Given the description of an element on the screen output the (x, y) to click on. 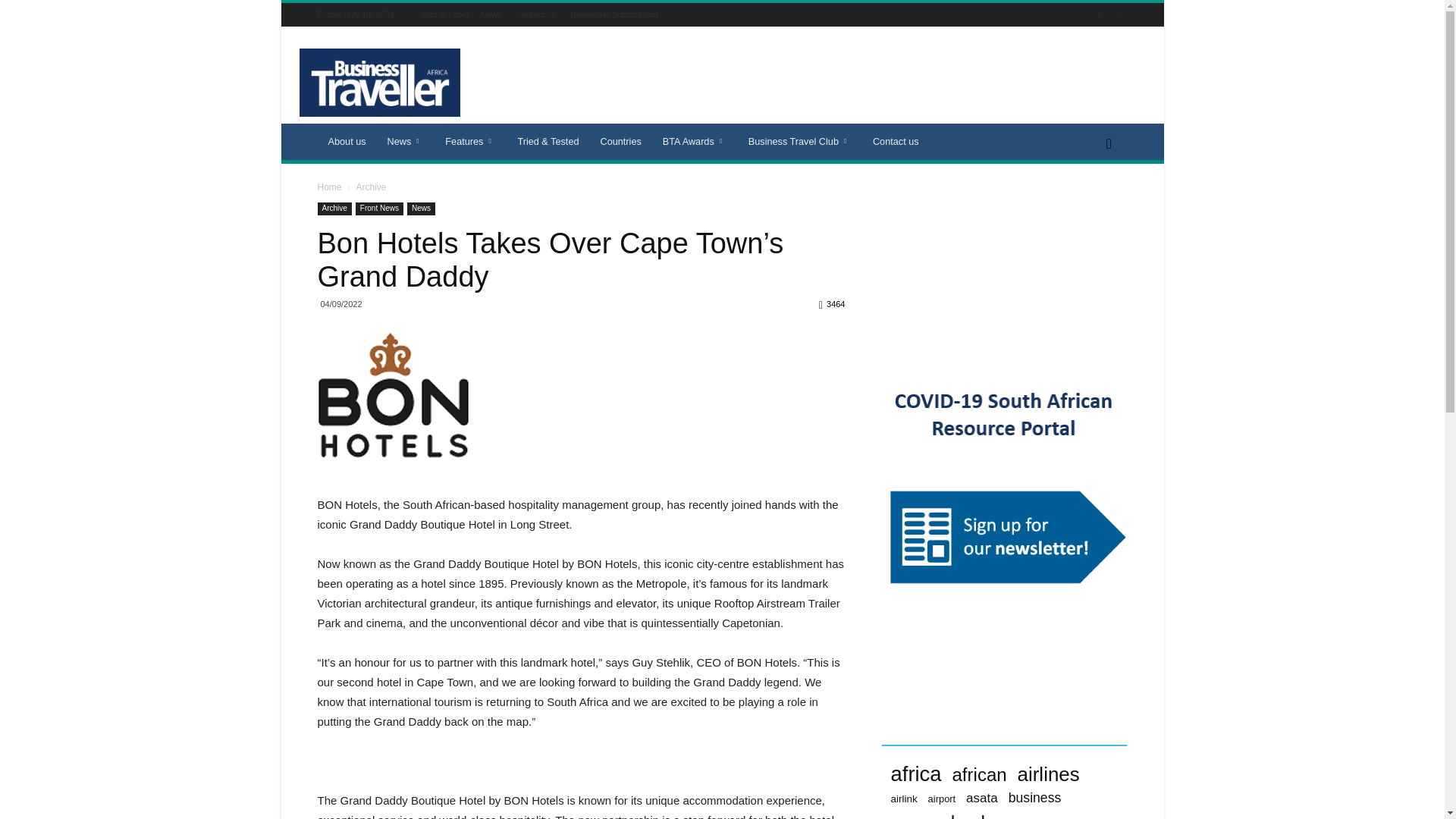
Newsletter Subscription (614, 13)
Facebook (1099, 13)
News (491, 13)
Contact us (535, 13)
Twitter (1117, 13)
About us (346, 141)
BON-Hotels (392, 403)
YouTube video player (1003, 271)
View all posts in Archive (370, 186)
News (406, 141)
